Given the description of an element on the screen output the (x, y) to click on. 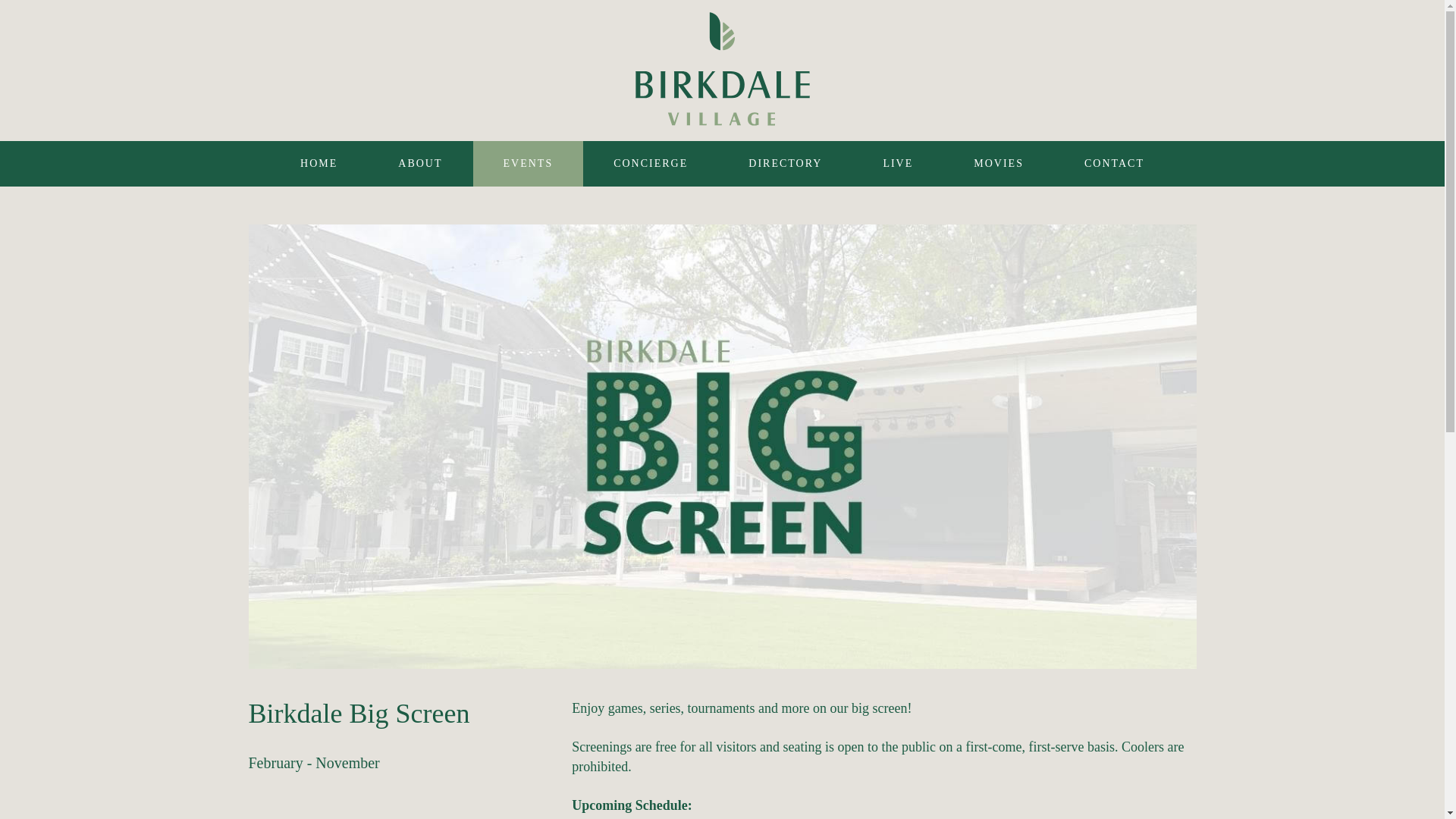
DIRECTORY (784, 163)
HOME (318, 163)
MOVIES (998, 163)
ABOUT (419, 163)
LIVE (897, 163)
CONTACT (1114, 163)
EVENTS (528, 163)
CONCIERGE (650, 163)
